Given the description of an element on the screen output the (x, y) to click on. 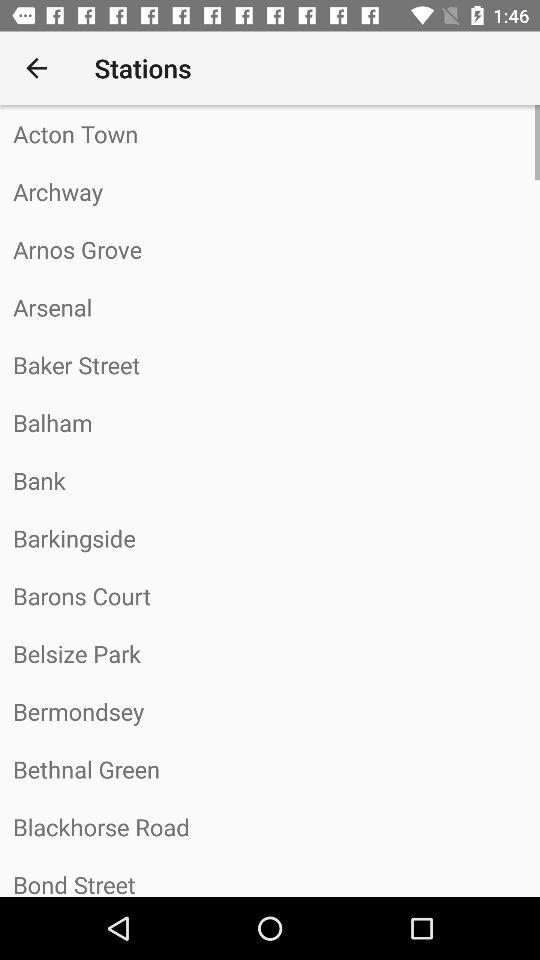
turn on baker street item (270, 364)
